Given the description of an element on the screen output the (x, y) to click on. 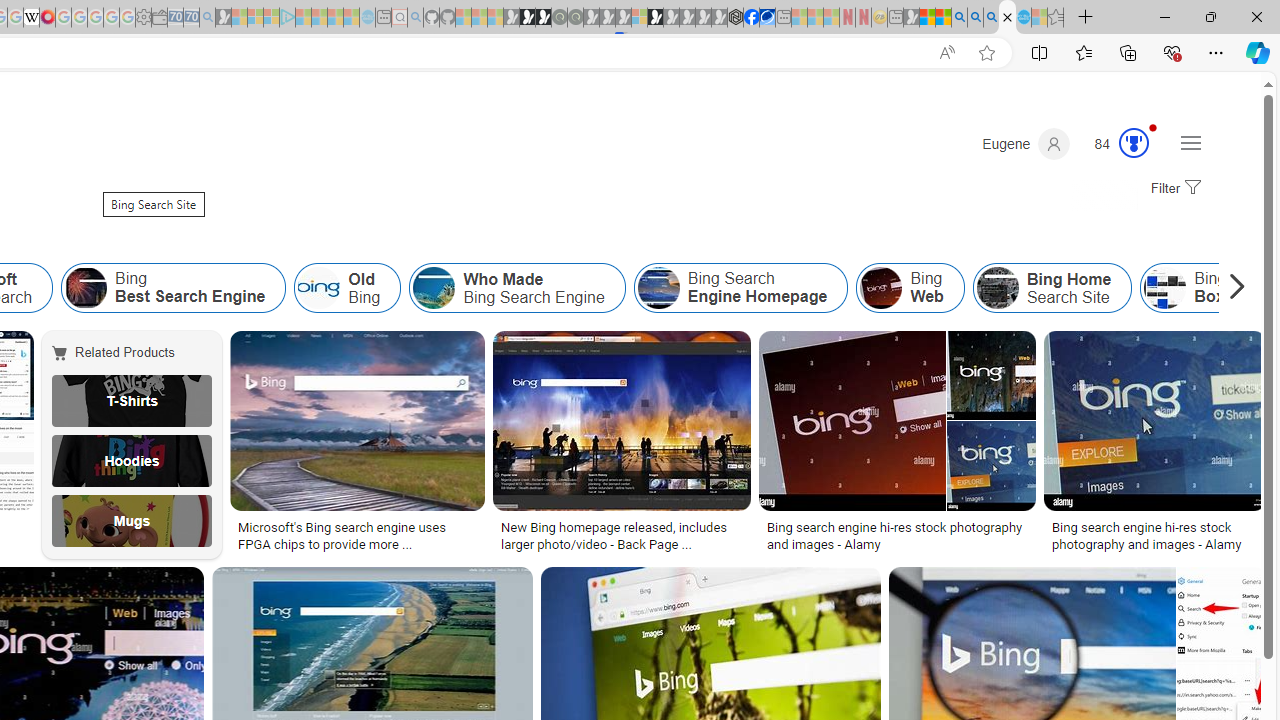
Bing Best Search Engine (173, 287)
Bing Mugs (132, 521)
Mugs (132, 521)
Bing Home Search Site (1051, 287)
